Given the description of an element on the screen output the (x, y) to click on. 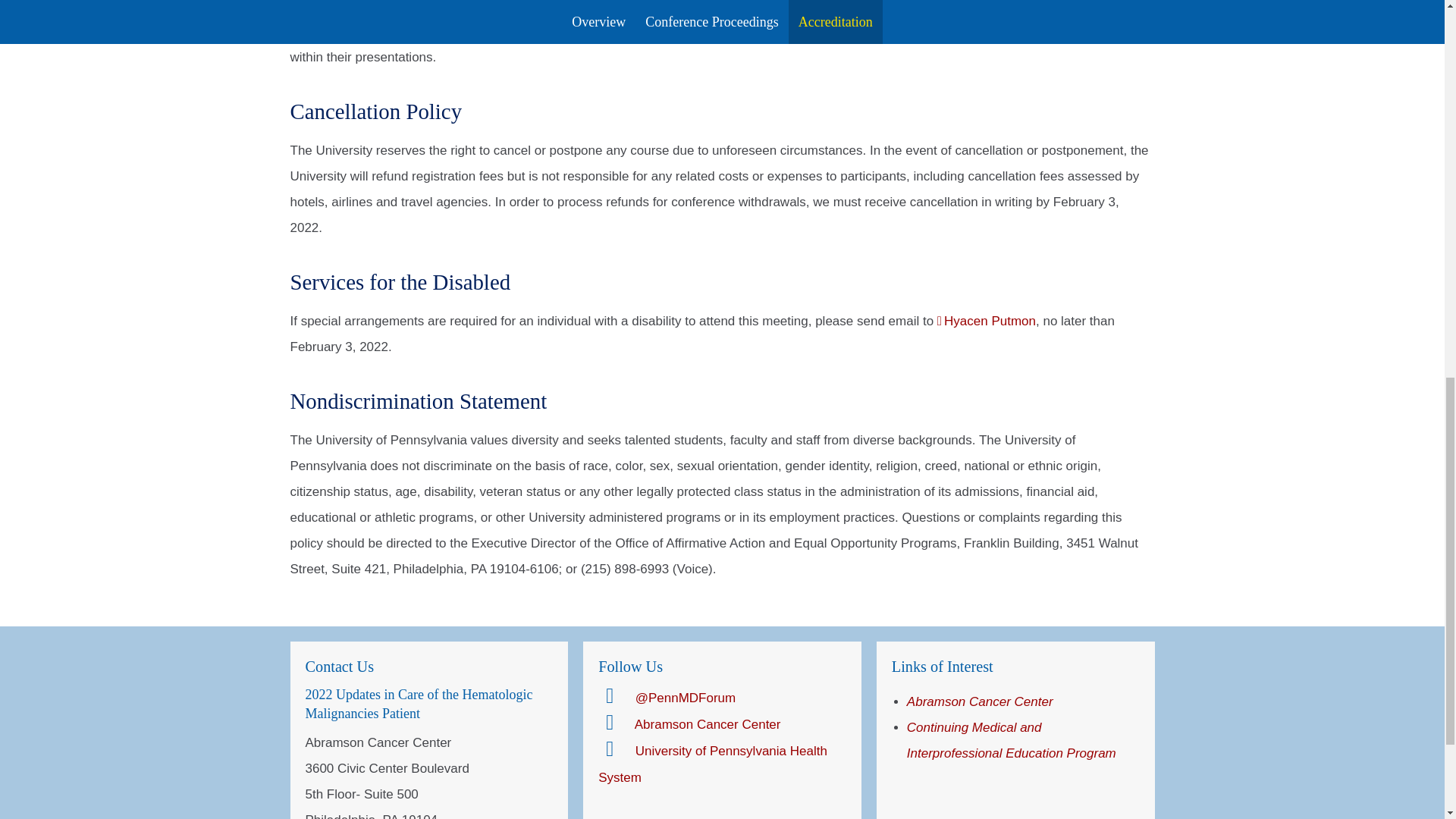
Hyacen Putmon (986, 320)
Continuing Medical and Interprofessional Education Program (1011, 740)
Abramson Cancer Center (689, 725)
University of Pennsylvania Health System (712, 764)
Abramson Cancer Center (979, 701)
